Given the description of an element on the screen output the (x, y) to click on. 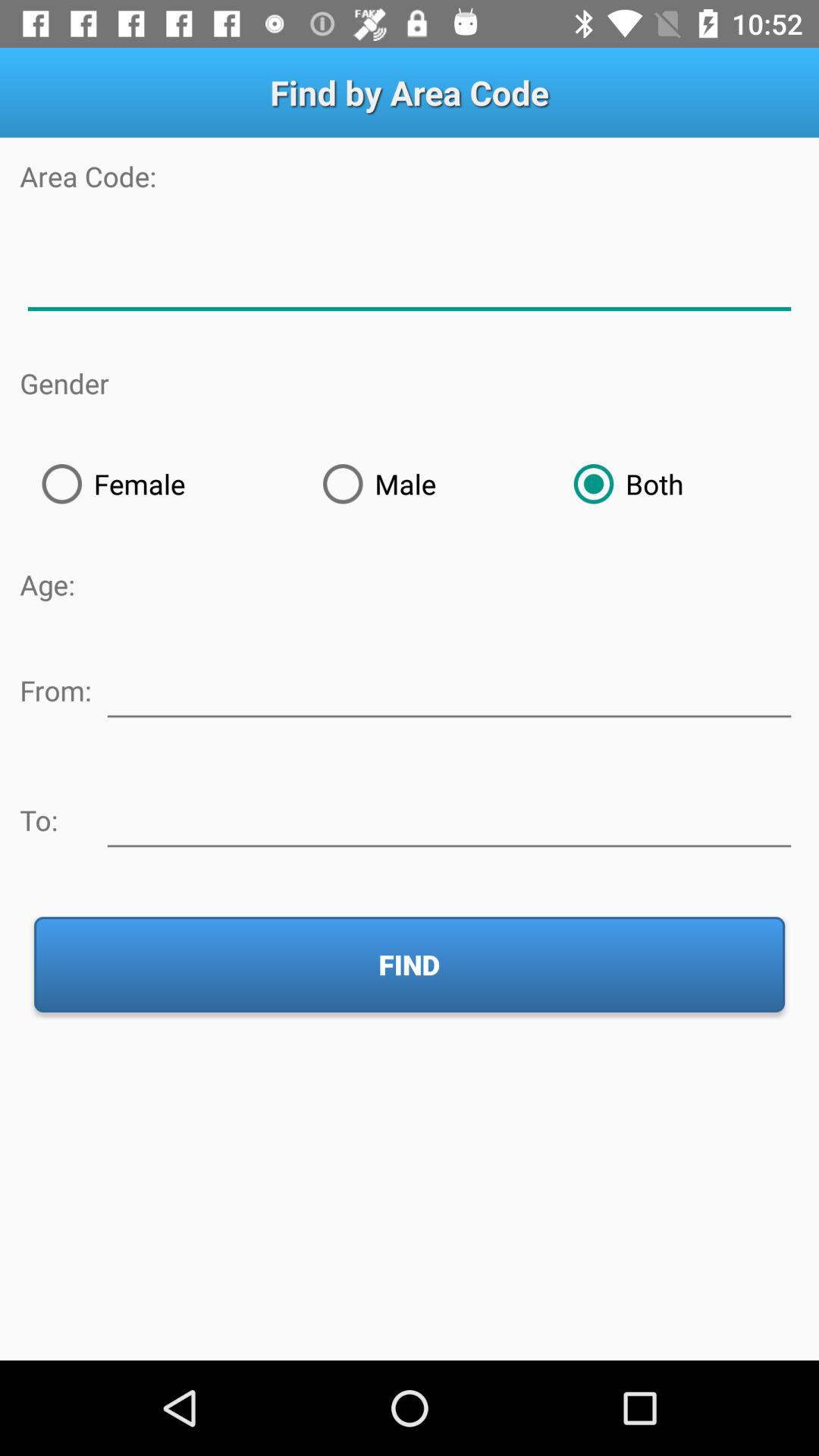
turn on the male radio button (426, 483)
